Given the description of an element on the screen output the (x, y) to click on. 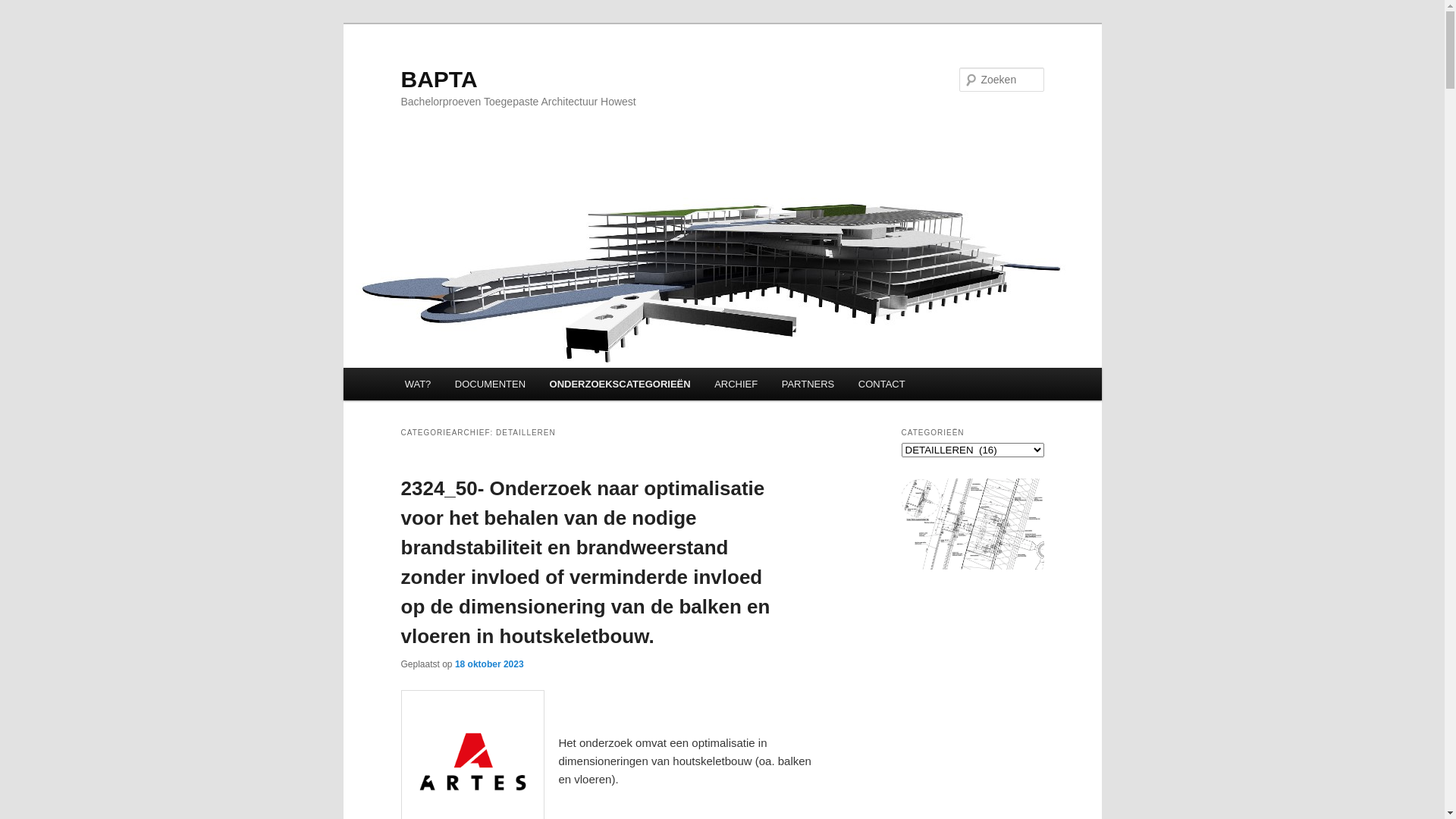
BAPTA Element type: text (438, 78)
DOCUMENTEN Element type: text (489, 383)
18 oktober 2023 Element type: text (489, 663)
CONTACT Element type: text (881, 383)
Zoeken Element type: text (25, 8)
WAT? Element type: text (417, 383)
ARCHIEF Element type: text (735, 383)
PARTNERS Element type: text (807, 383)
Spring naar de primaire inhoud Element type: text (22, 22)
